Given the description of an element on the screen output the (x, y) to click on. 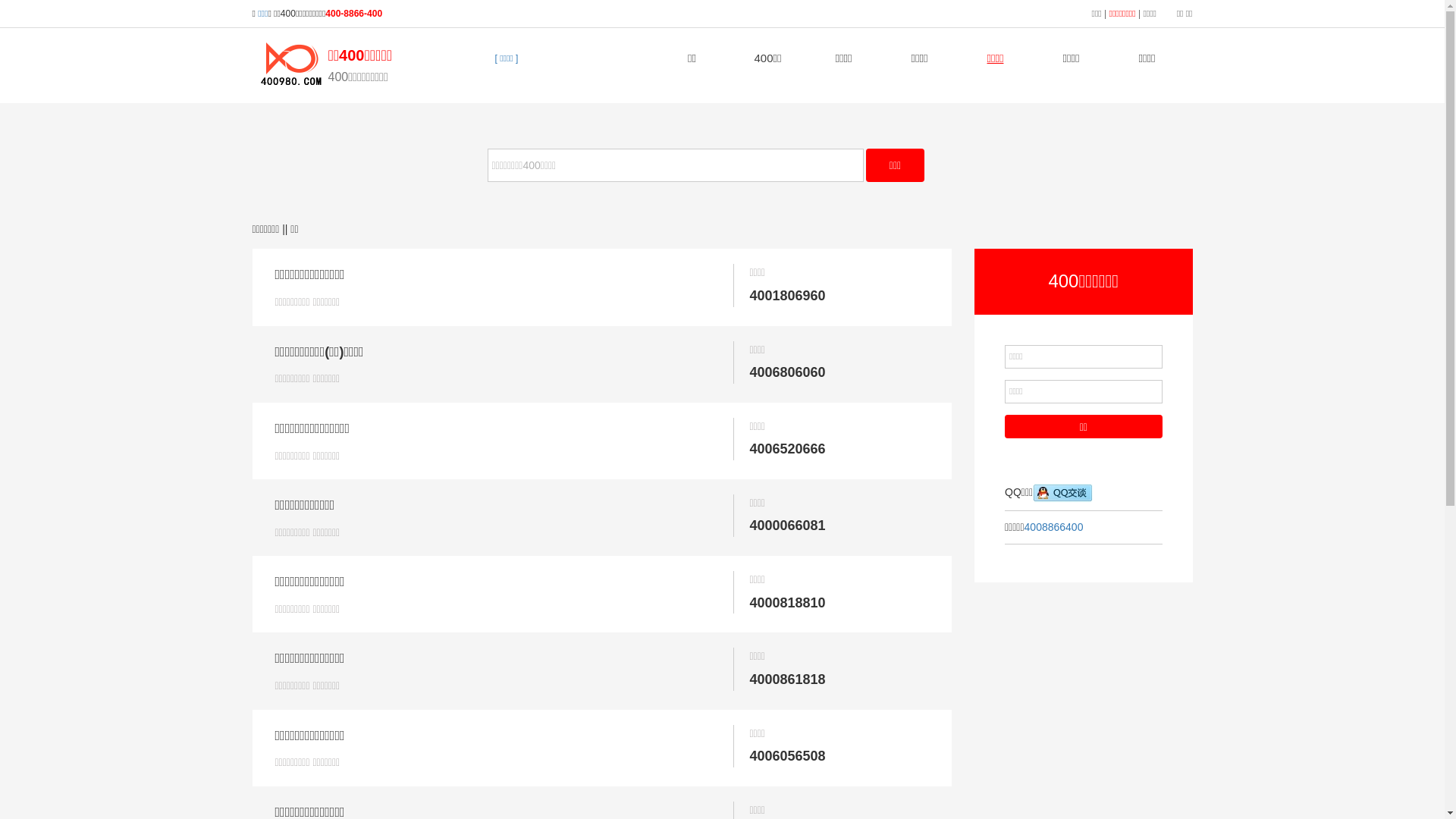
4008866400 Element type: text (1053, 526)
